Given the description of an element on the screen output the (x, y) to click on. 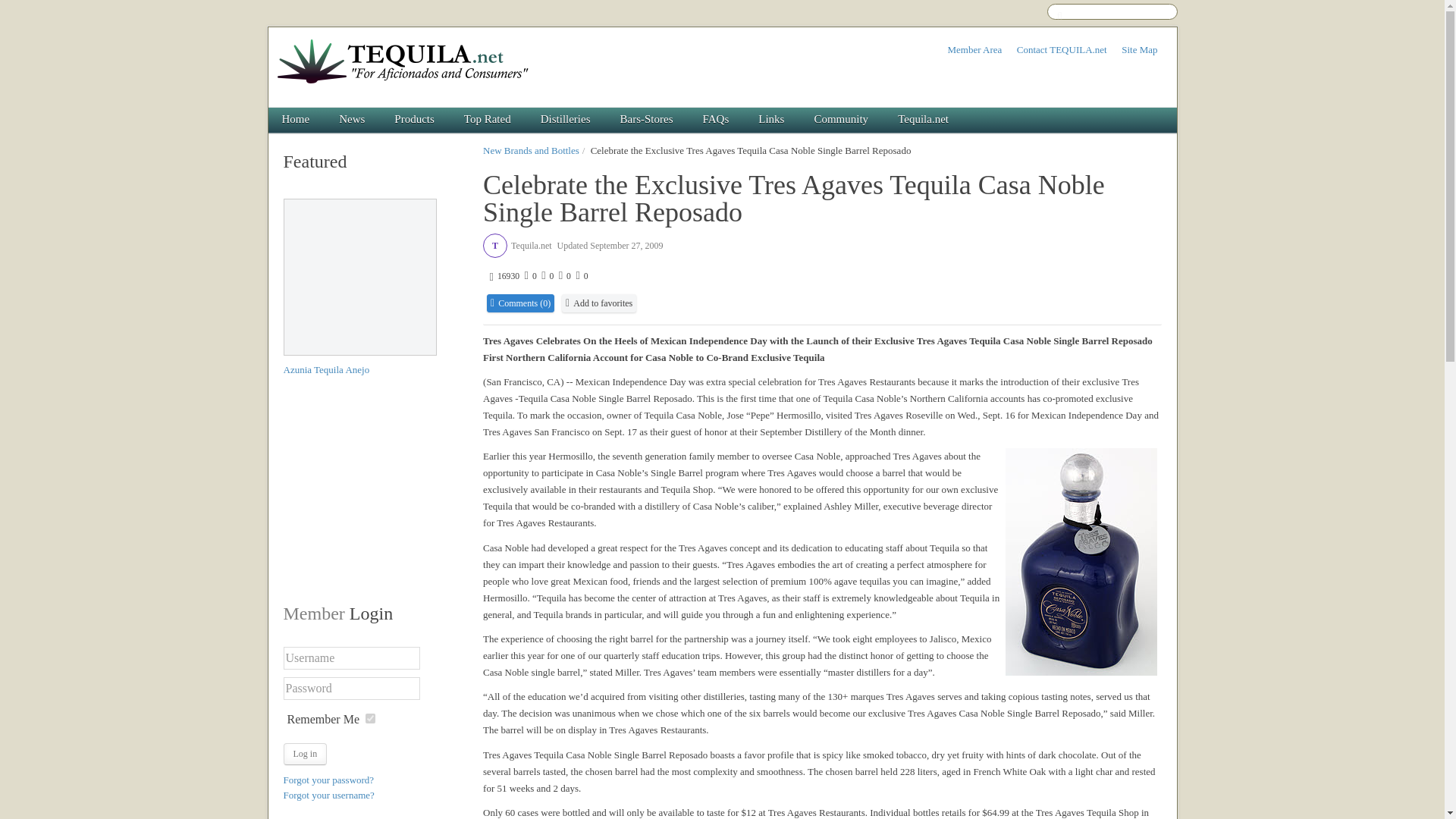
Site Map (1139, 49)
Home (295, 120)
Contact TEQUILA.net (1061, 49)
Favorite count (580, 276)
Member Area (974, 49)
Video count (529, 276)
Attachment count (563, 276)
Photo count (545, 276)
News (352, 120)
Views (504, 276)
Products (414, 120)
yes (370, 718)
